Given the description of an element on the screen output the (x, y) to click on. 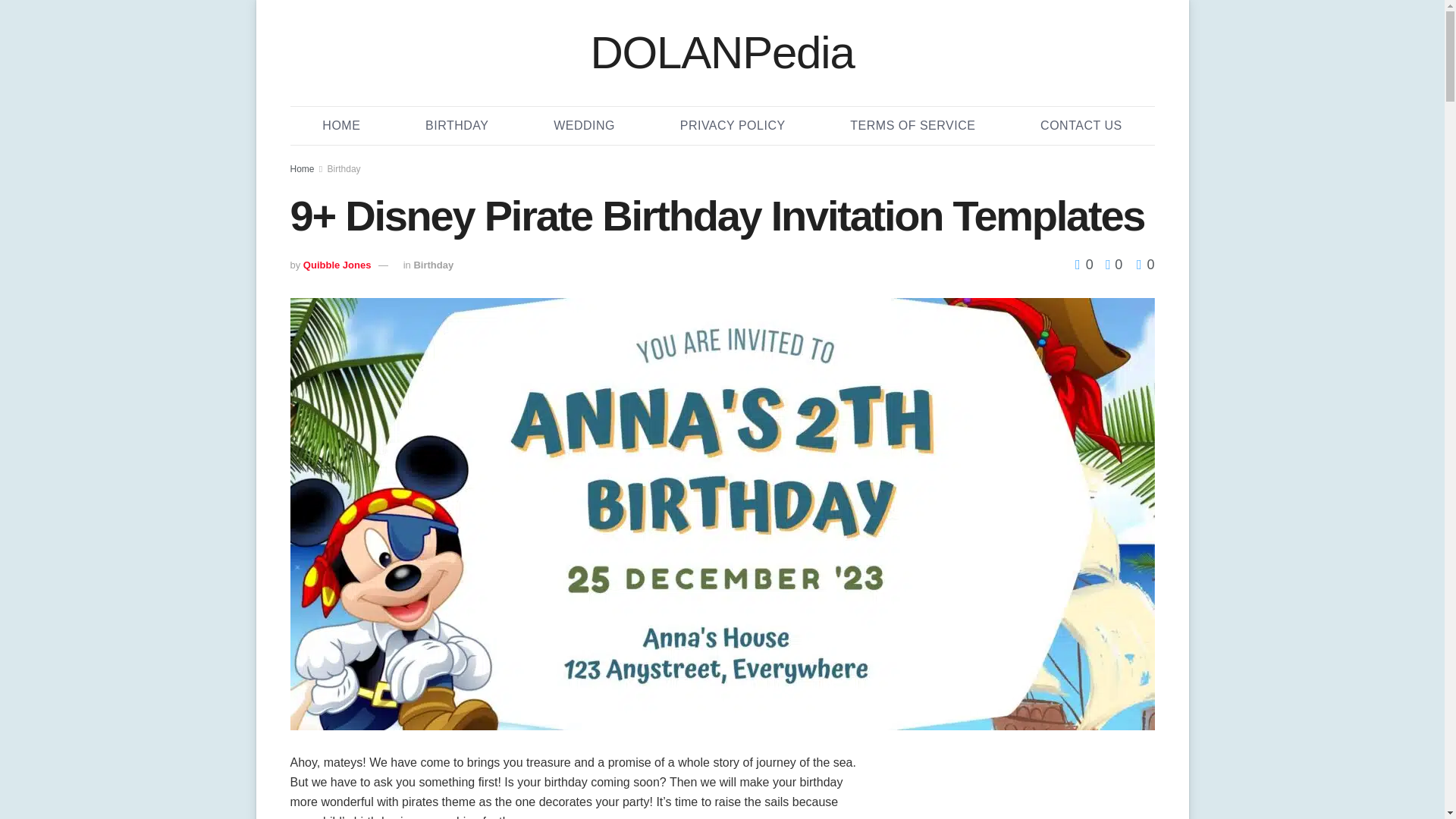
Birthday (432, 265)
TERMS OF SERVICE (911, 125)
WEDDING (584, 125)
0 (1086, 264)
0 (1109, 264)
CONTACT US (1080, 125)
0 (1145, 264)
HOME (341, 125)
Birthday (344, 168)
DOLANPedia (721, 53)
Home (301, 168)
BIRTHDAY (457, 125)
Quibble Jones (336, 265)
PRIVACY POLICY (732, 125)
Advertisement (1023, 785)
